Given the description of an element on the screen output the (x, y) to click on. 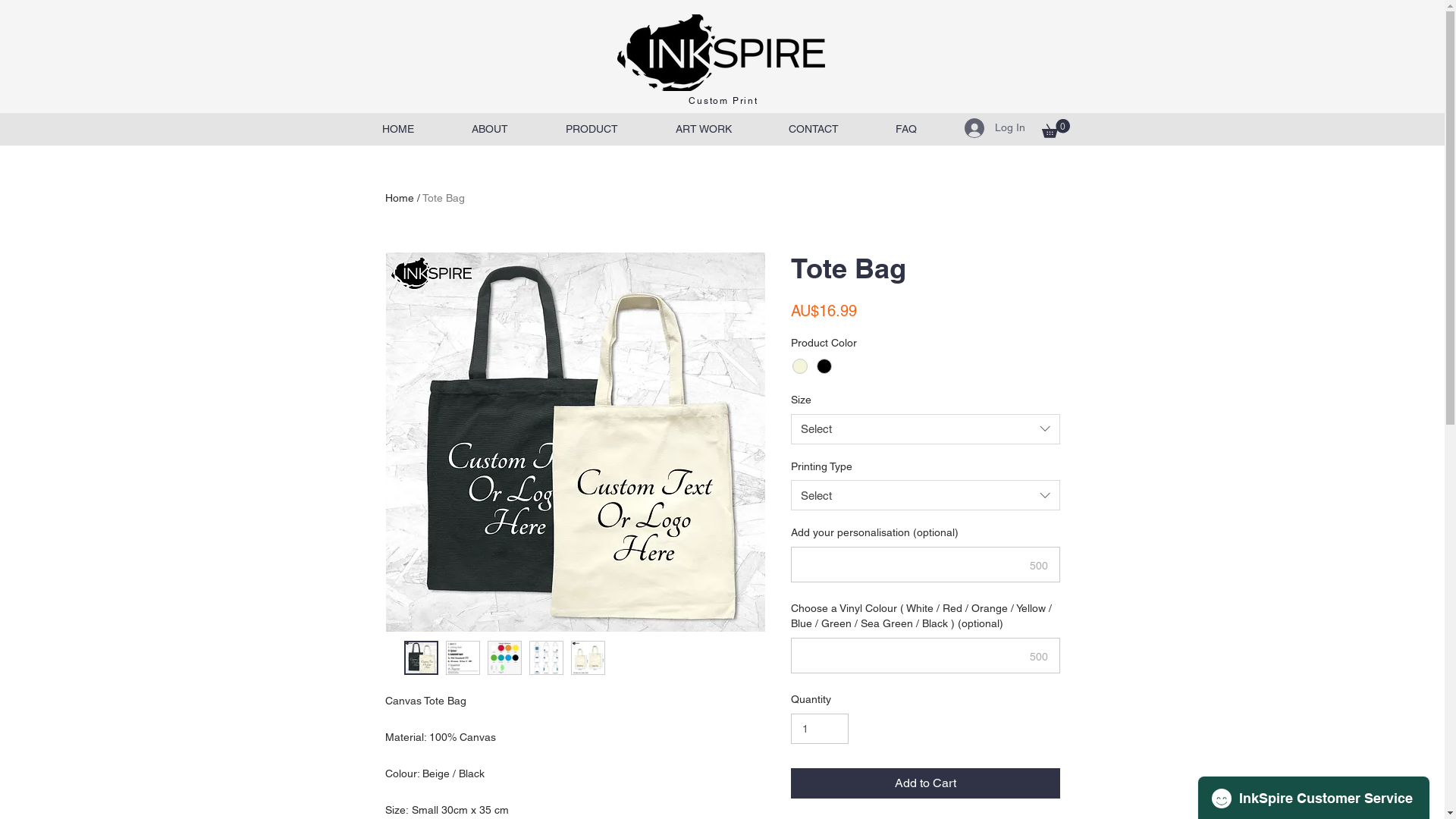
Select Element type: text (924, 495)
Tote Bag Element type: text (442, 197)
Custom Print Element type: text (723, 100)
Select Element type: text (924, 429)
Log In Element type: text (994, 127)
0 Element type: text (1055, 128)
CONTACT Element type: text (812, 129)
HOME Element type: text (397, 129)
ABOUT Element type: text (489, 129)
Home Element type: text (399, 197)
PRODUCT Element type: text (591, 129)
ART WORK Element type: text (702, 129)
FAQ Element type: text (906, 129)
Add to Cart Element type: text (924, 783)
